Given the description of an element on the screen output the (x, y) to click on. 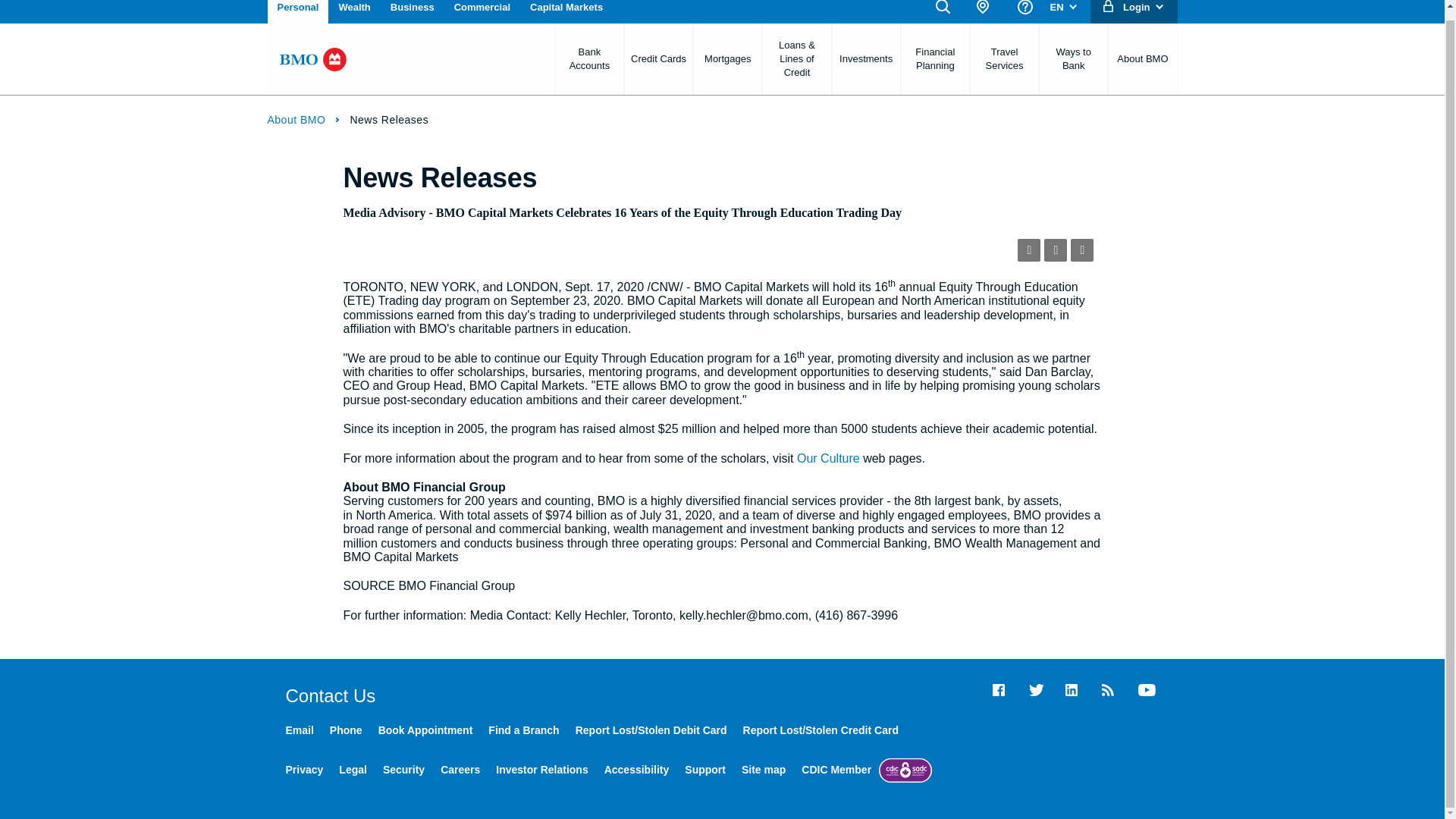
Support (1019, 11)
Wealth (354, 12)
Personal (297, 12)
email (1055, 250)
Login (1138, 12)
Find us (978, 11)
Business (412, 12)
Search (937, 11)
rss (1029, 250)
EN (1059, 12)
Capital Markets (565, 12)
print (1081, 250)
Bank Accounts (589, 59)
Commercial (481, 12)
